Given the description of an element on the screen output the (x, y) to click on. 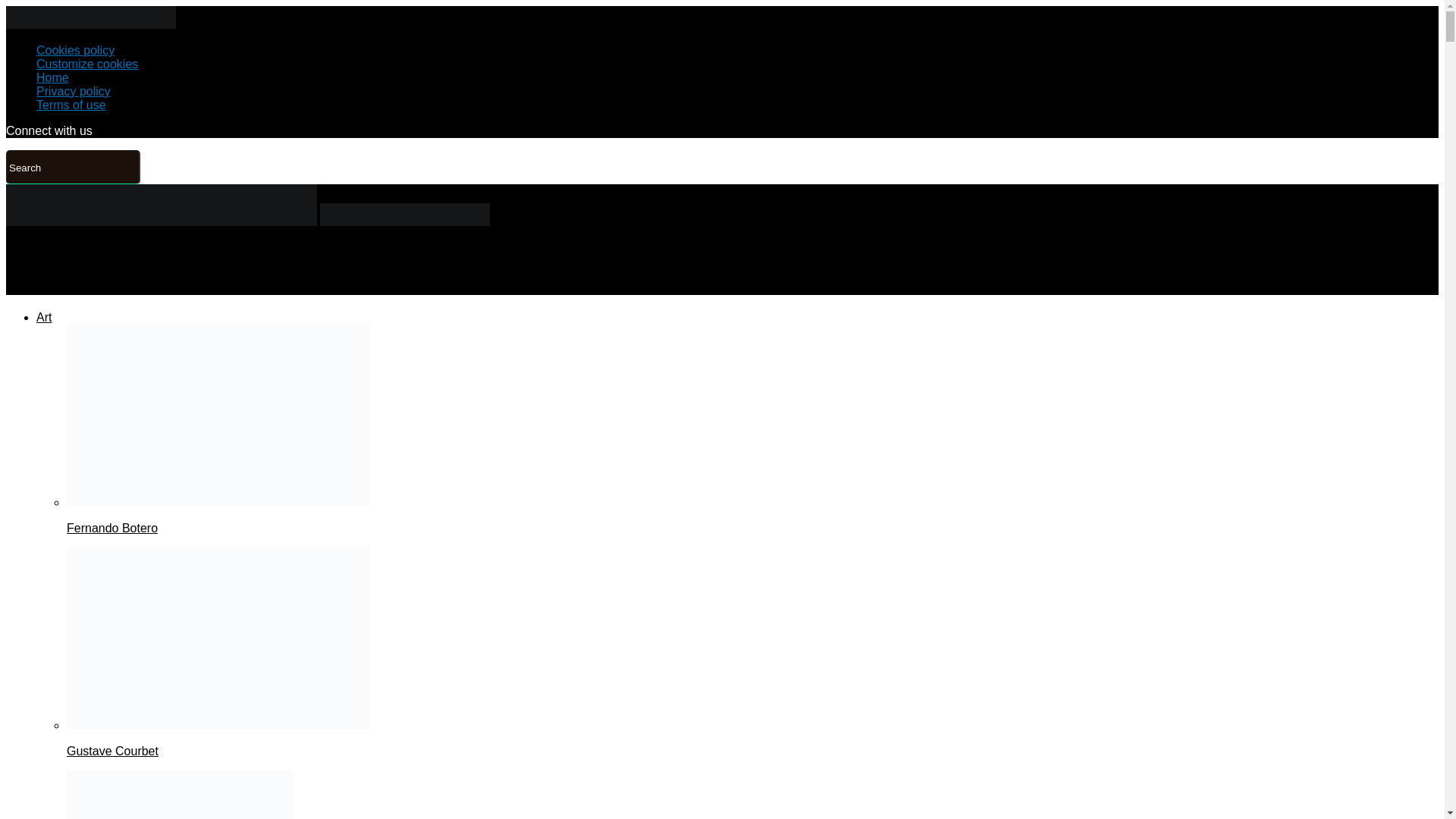
Home (52, 77)
Terms of use (71, 104)
Customize cookies (87, 63)
Art (43, 317)
Search (72, 166)
Cookies policy (75, 50)
Privacy policy (73, 91)
